Given the description of an element on the screen output the (x, y) to click on. 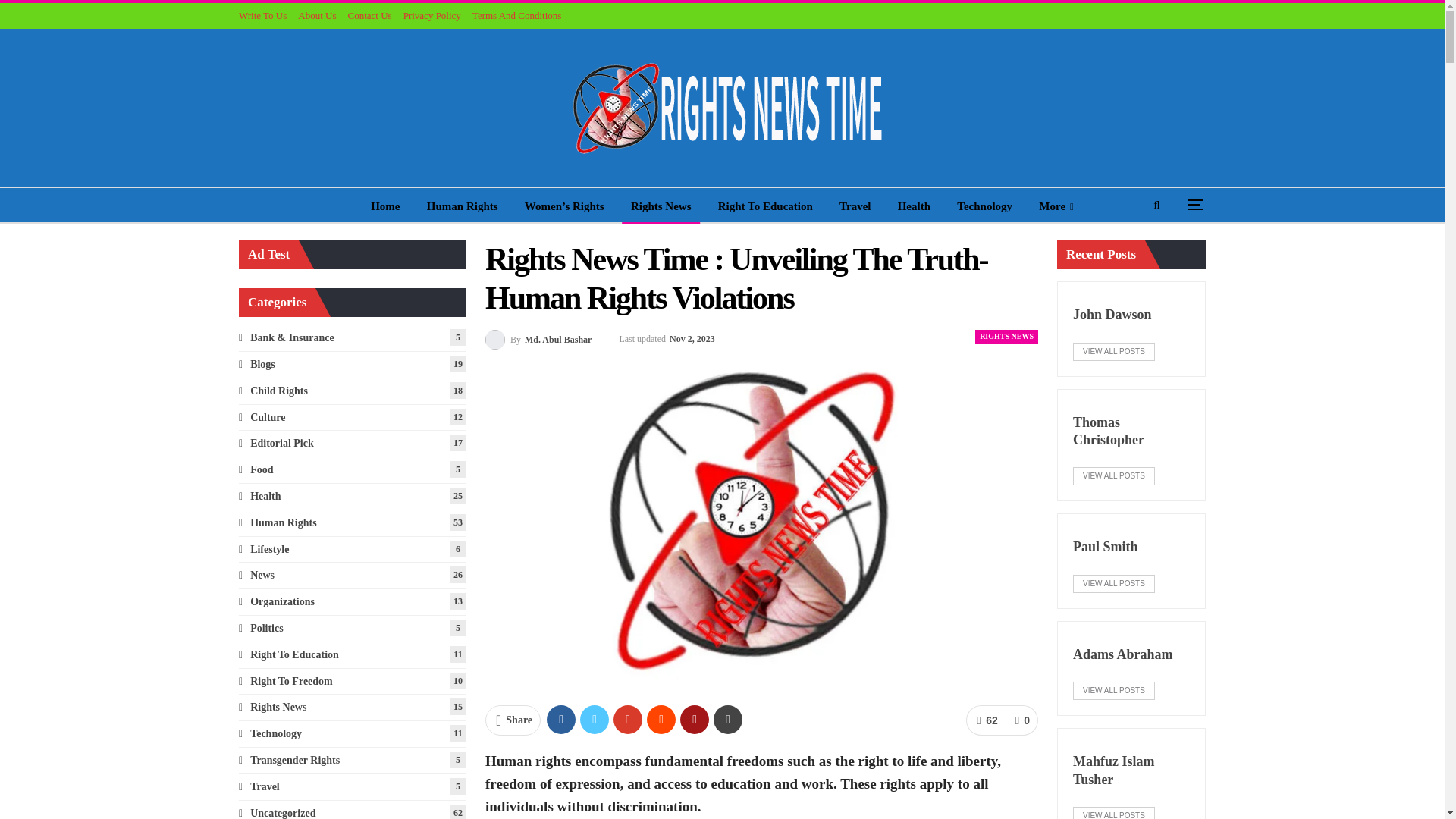
Rights News (660, 206)
Browse Author Articles (537, 339)
By Md. Abul Bashar (537, 339)
RIGHTS NEWS (1006, 336)
Privacy Policy (432, 15)
Right To Education (765, 206)
Contact Us (369, 15)
Terms And Conditions (516, 15)
Travel (854, 206)
Health (913, 206)
